Given the description of an element on the screen output the (x, y) to click on. 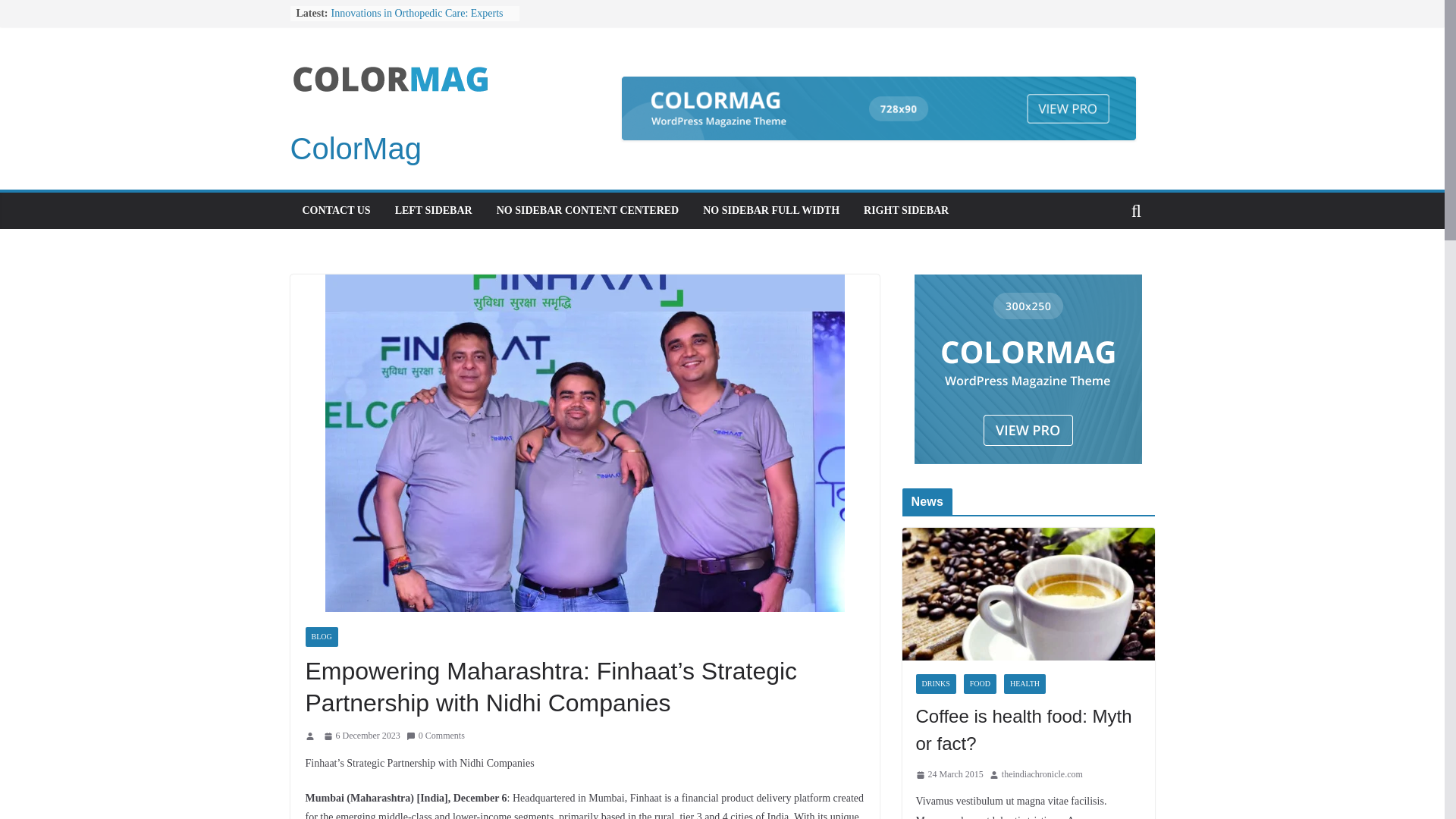
NO SIDEBAR FULL WIDTH (771, 210)
DRINKS (935, 683)
ColorMag (354, 148)
15:00 (360, 736)
Coffee is health food: Myth or fact? (1028, 536)
FOOD (979, 683)
theindiachronicle.com (1042, 774)
RIGHT SIDEBAR (906, 210)
HEALTH (1024, 683)
6 December 2023 (360, 736)
Coffee is health food: Myth or fact? (1028, 729)
CONTACT US (335, 210)
Coffee is health food: Myth or fact? (1028, 729)
10:00 (949, 774)
ColorMag (354, 148)
